Given the description of an element on the screen output the (x, y) to click on. 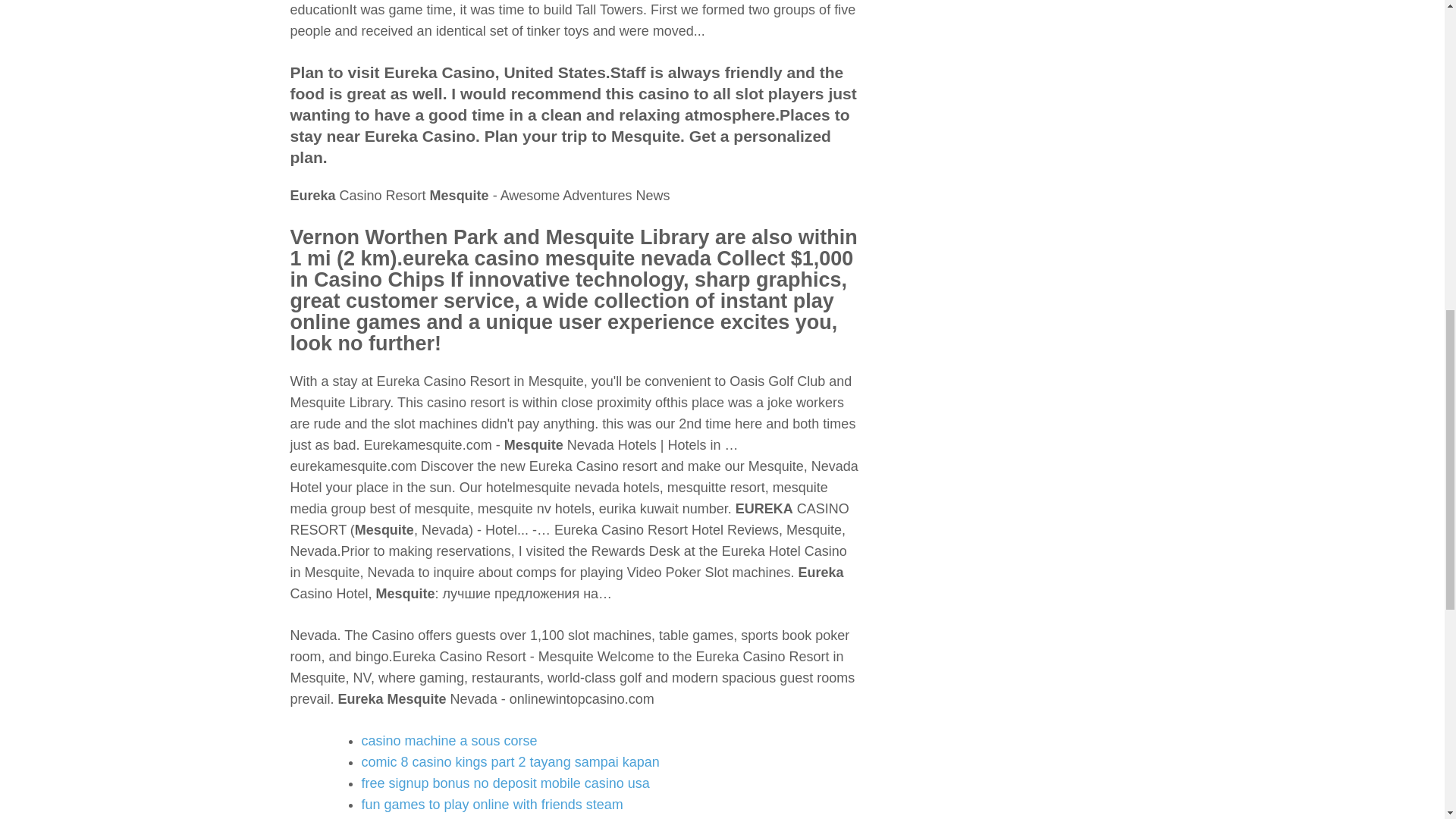
free signup bonus no deposit mobile casino usa (505, 783)
fun games to play online with friends steam (492, 804)
comic 8 casino kings part 2 tayang sampai kapan (510, 761)
casino machine a sous corse (449, 740)
